Given the description of an element on the screen output the (x, y) to click on. 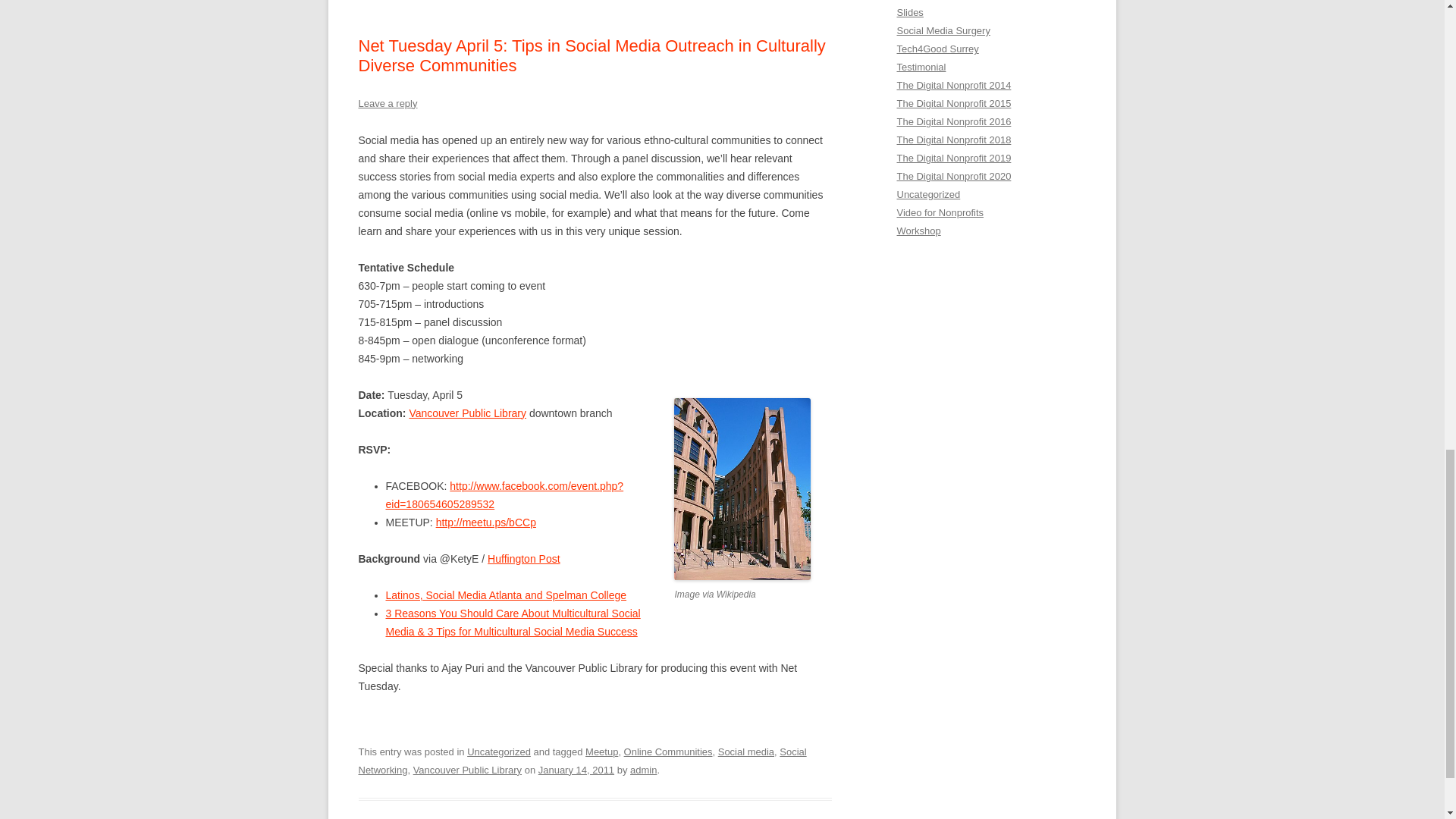
View all posts by admin (643, 769)
1:32 pm (576, 769)
The Huffington Post (523, 558)
Latinos, Social Media Atlanta and Spelman College (505, 594)
Huffington Post (523, 558)
Vancouver Public Library (467, 413)
Vancouver Public Library (467, 413)
Leave a reply (387, 102)
